Given the description of an element on the screen output the (x, y) to click on. 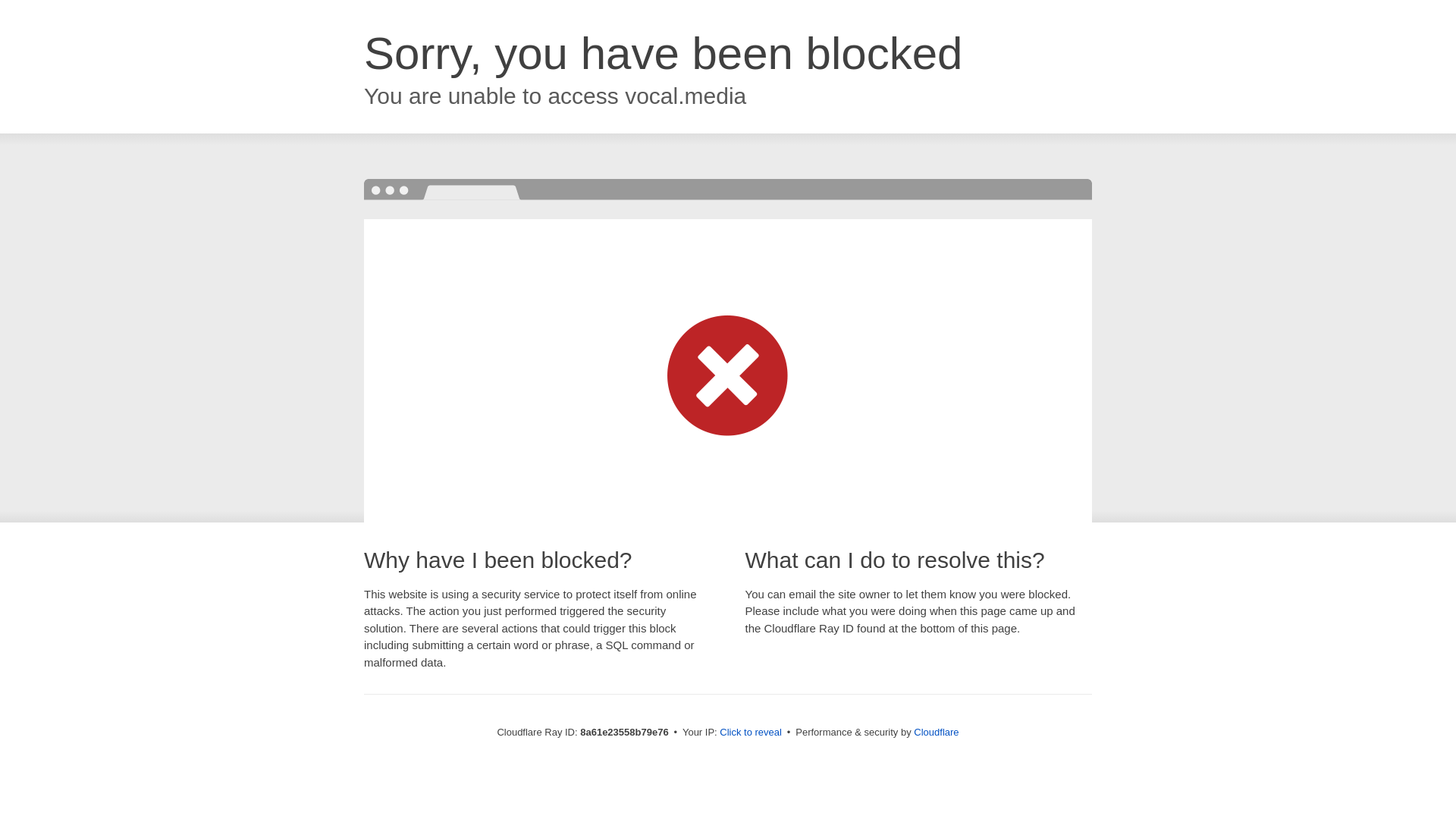
Click to reveal (750, 732)
Cloudflare (936, 731)
